Given the description of an element on the screen output the (x, y) to click on. 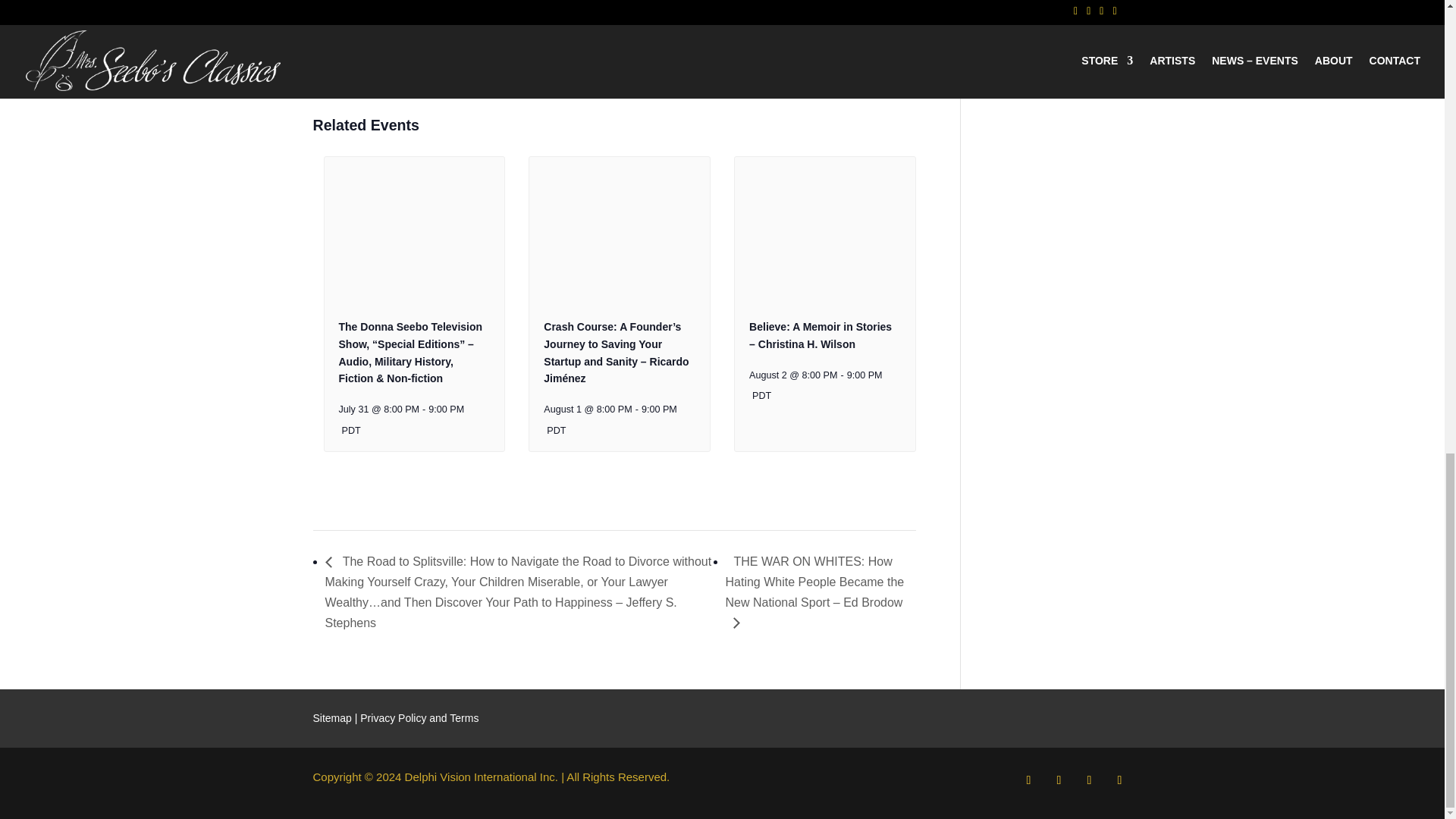
Follow on RSS (1118, 780)
Follow on Facebook (1028, 780)
Follow on X (1058, 780)
Follow on Instagram (1088, 780)
Privacy Policy and Terms (419, 717)
Sitemap (331, 717)
